Given the description of an element on the screen output the (x, y) to click on. 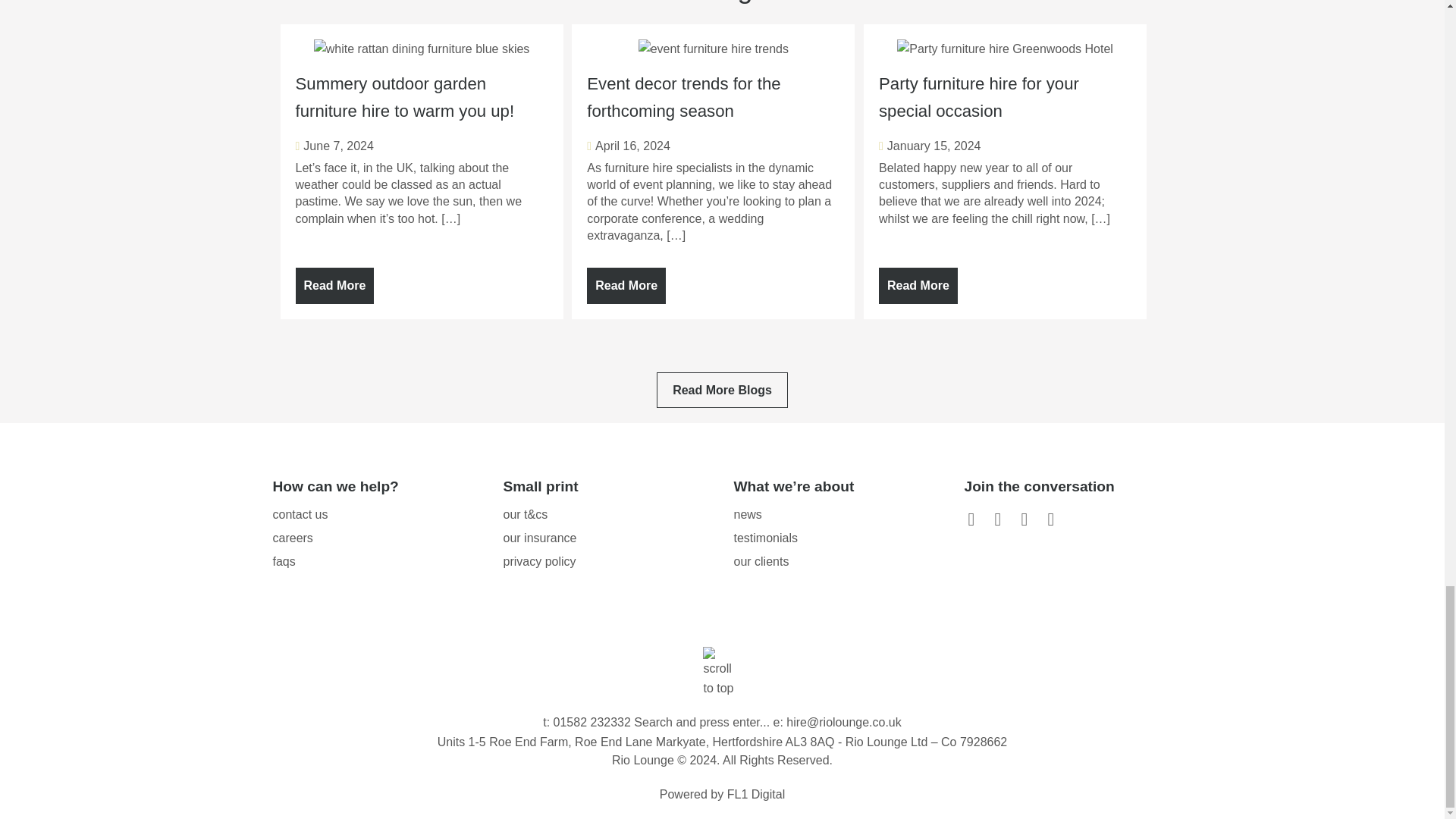
Summery outdoor garden furniture hire to warm you up! (421, 281)
Party furniture hire for your special occasion (1005, 281)
news blog (721, 390)
Event decor trends for the forthcoming season (713, 87)
Summery outdoor garden furniture hire to warm you up! (421, 87)
Event decor trends for the forthcoming season (713, 281)
Party furniture hire for your special occasion (1005, 87)
